Given the description of an element on the screen output the (x, y) to click on. 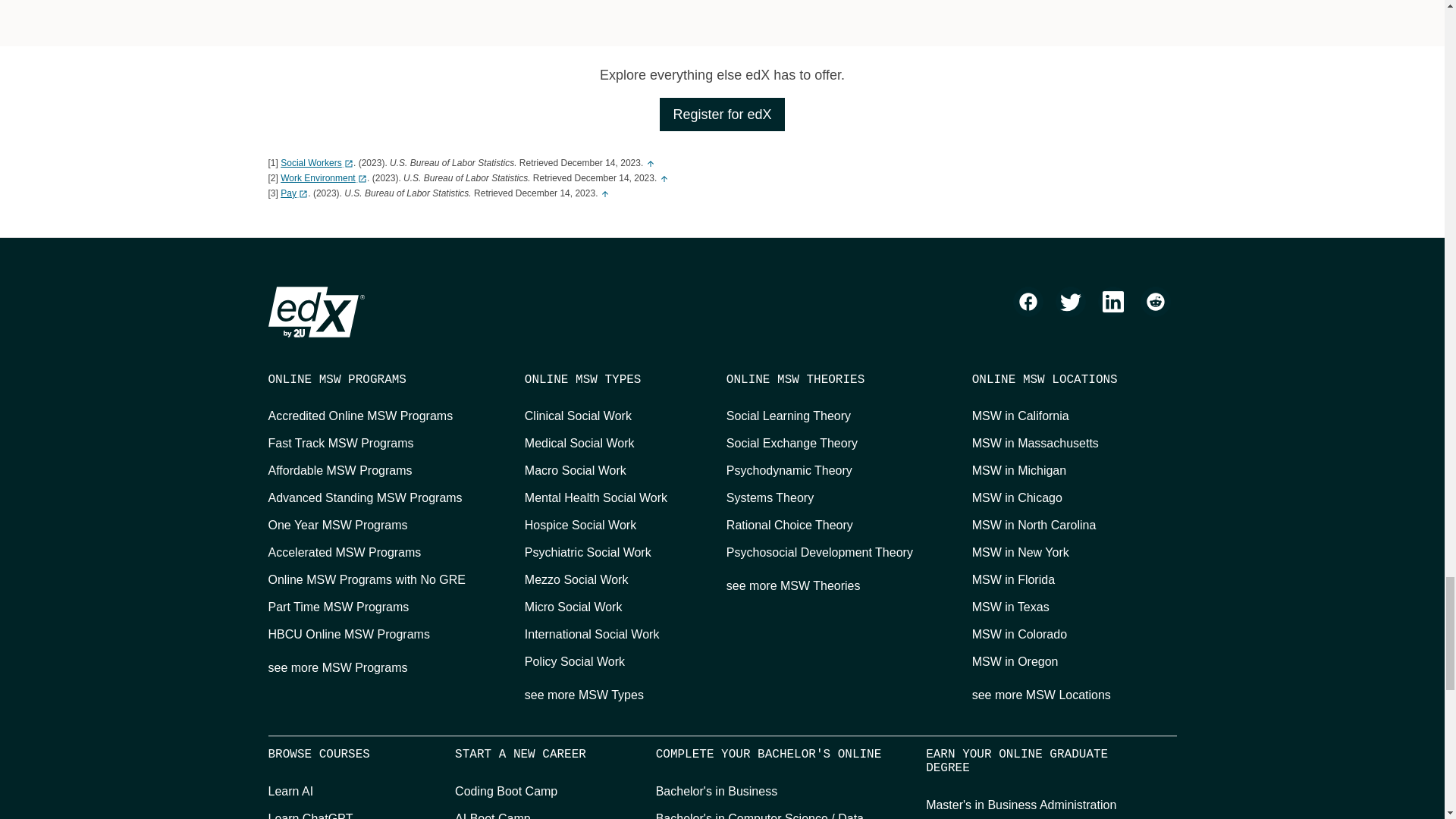
Facebook (1028, 301)
Register for edX (721, 114)
LinkedIn (1112, 301)
Twitter (1070, 301)
Reddit (1155, 301)
